Given the description of an element on the screen output the (x, y) to click on. 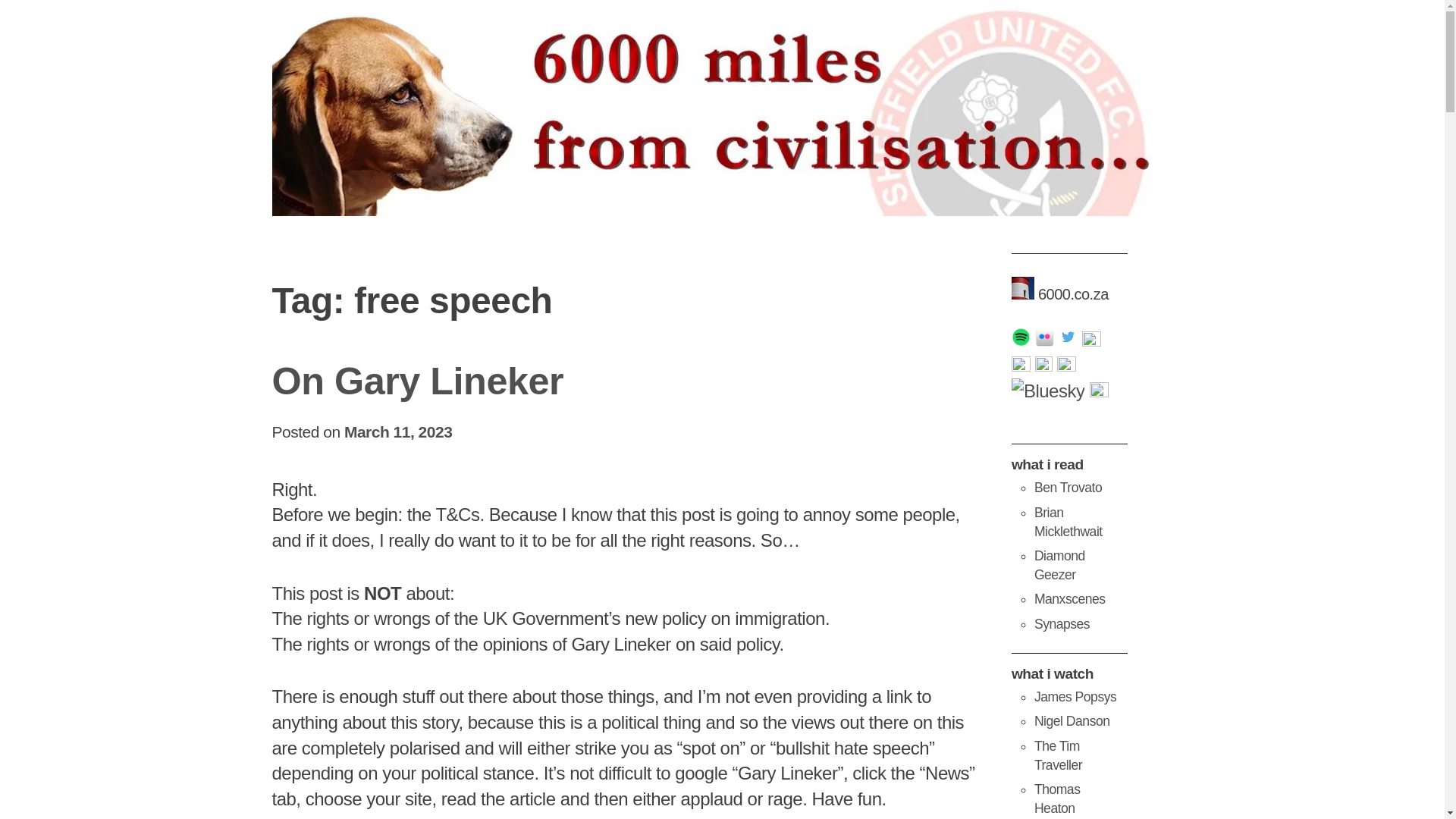
UK landscape photographer (1071, 720)
Eclectic mix of social commentary (1067, 521)
Photography advice from the UK (1074, 696)
jacques talks mostly sense (1061, 623)
On Gary Lineker (416, 380)
Daily tales of London (1058, 564)
March 11, 2023 (397, 431)
